Given the description of an element on the screen output the (x, y) to click on. 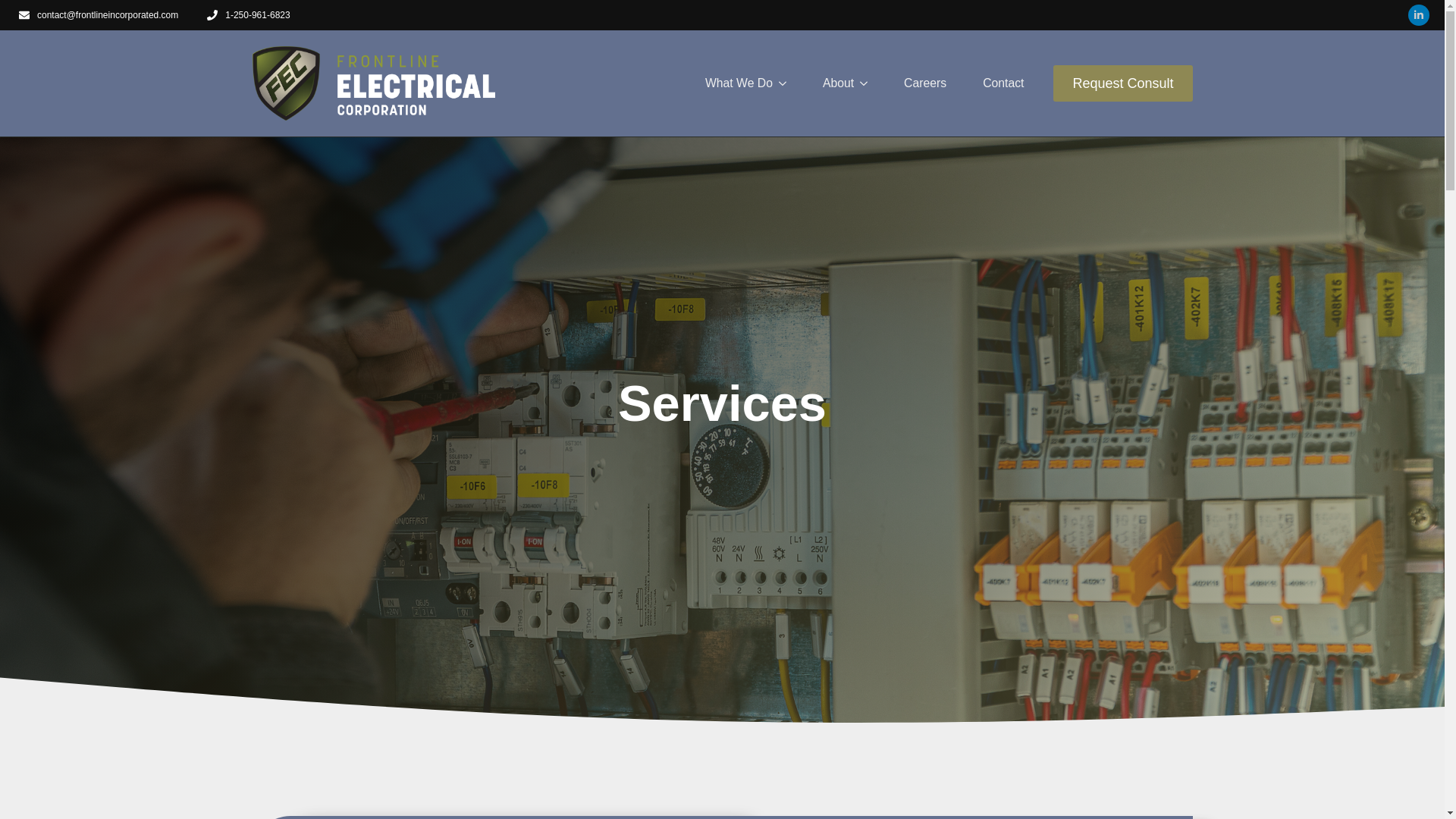
Contact (1002, 82)
Careers (924, 82)
Request Consult (1122, 83)
About (829, 82)
1-250-961-6823 (246, 15)
wpforms-submit (525, 767)
What We Do (730, 82)
